Given the description of an element on the screen output the (x, y) to click on. 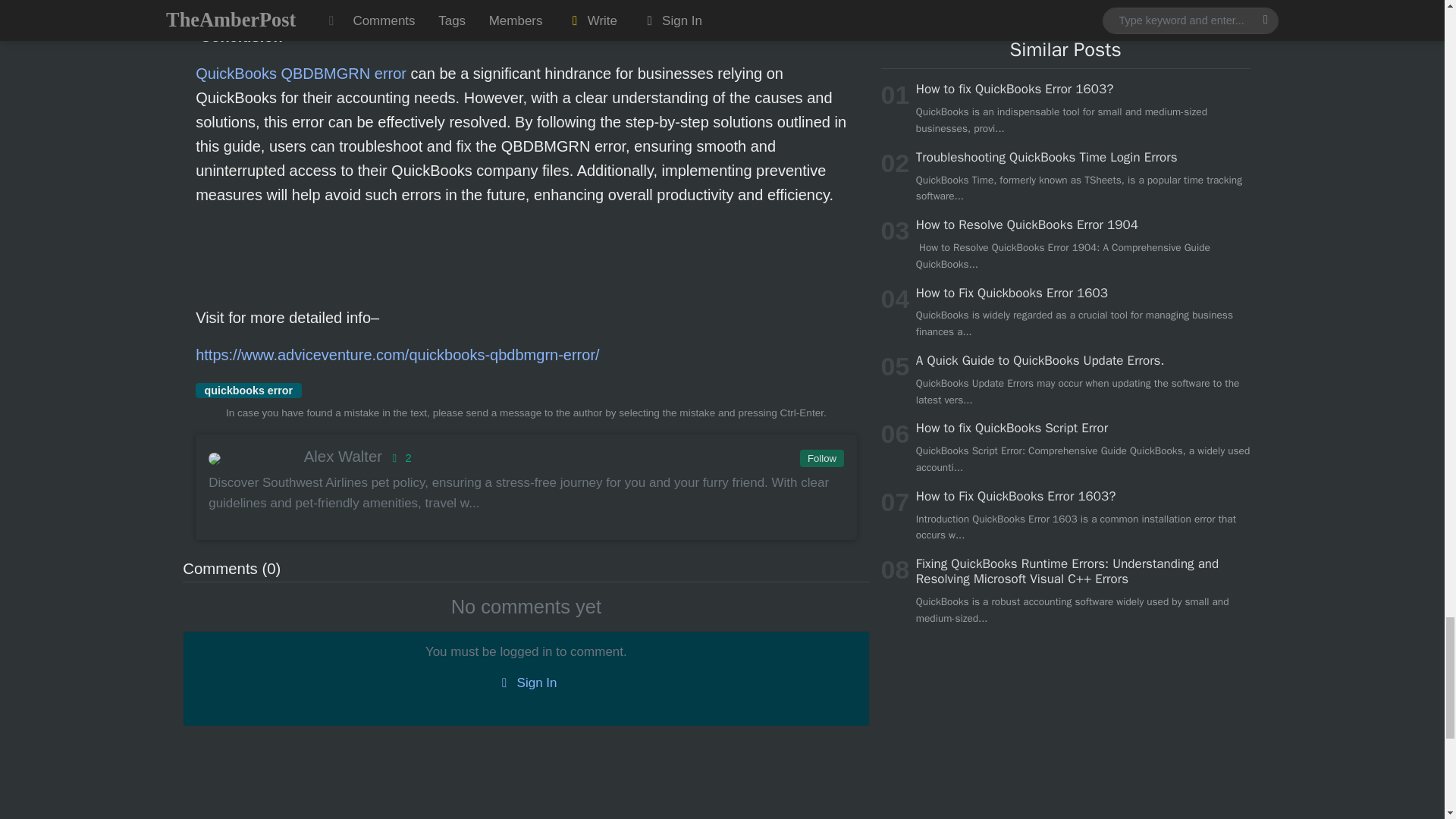
quickbooks error (248, 390)
Follow (821, 458)
Sign In (525, 681)
QuickBooks QBDBMGRN error (300, 73)
Alex Walter 2 (525, 456)
quickbooks error (248, 390)
Rating (399, 458)
